Given the description of an element on the screen output the (x, y) to click on. 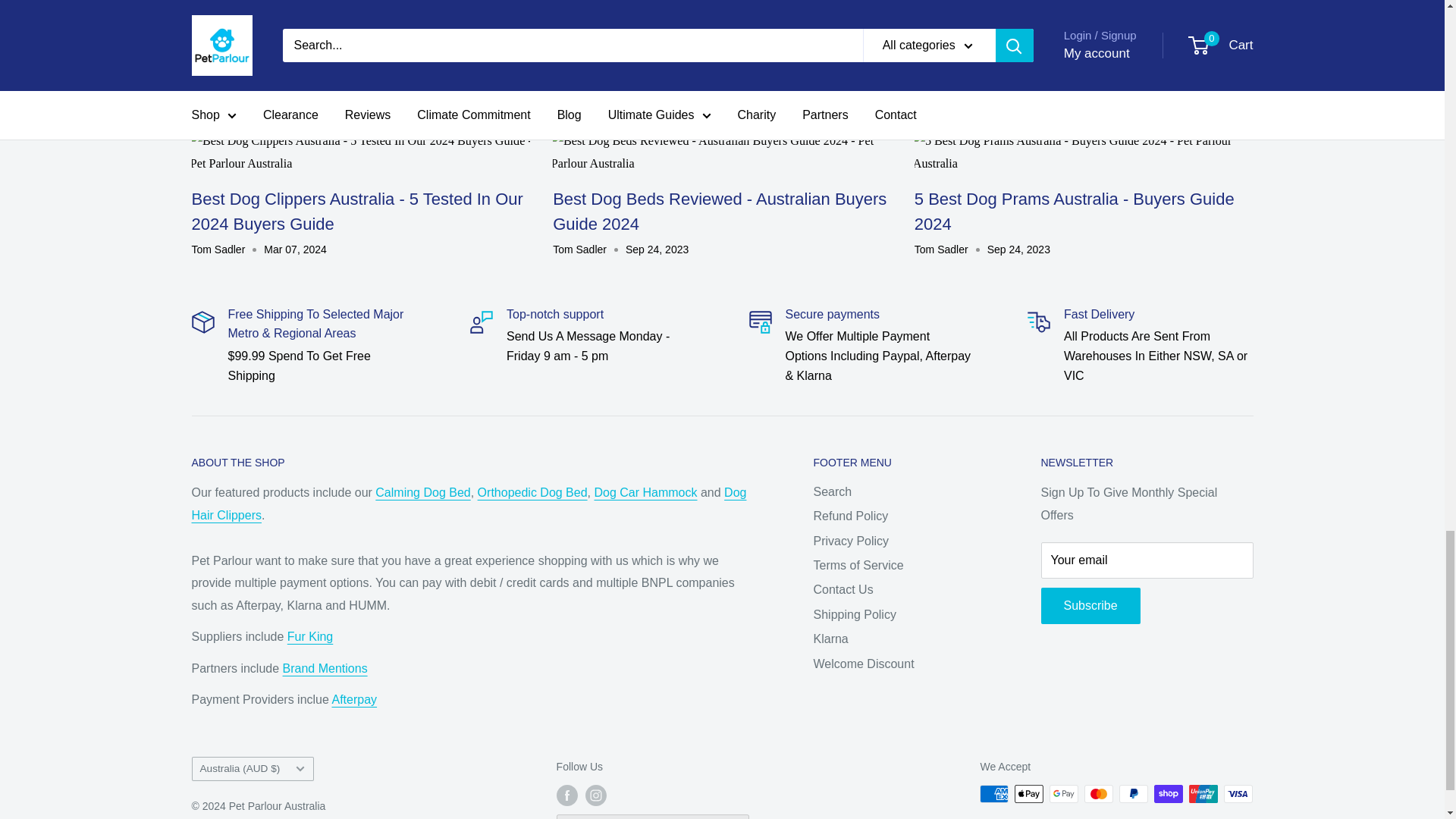
Dog Car Hammock (645, 492)
Dog Hair Clippers (467, 503)
Orthopedic Dog Bed (532, 492)
Calming Dog Bed (422, 492)
